Given the description of an element on the screen output the (x, y) to click on. 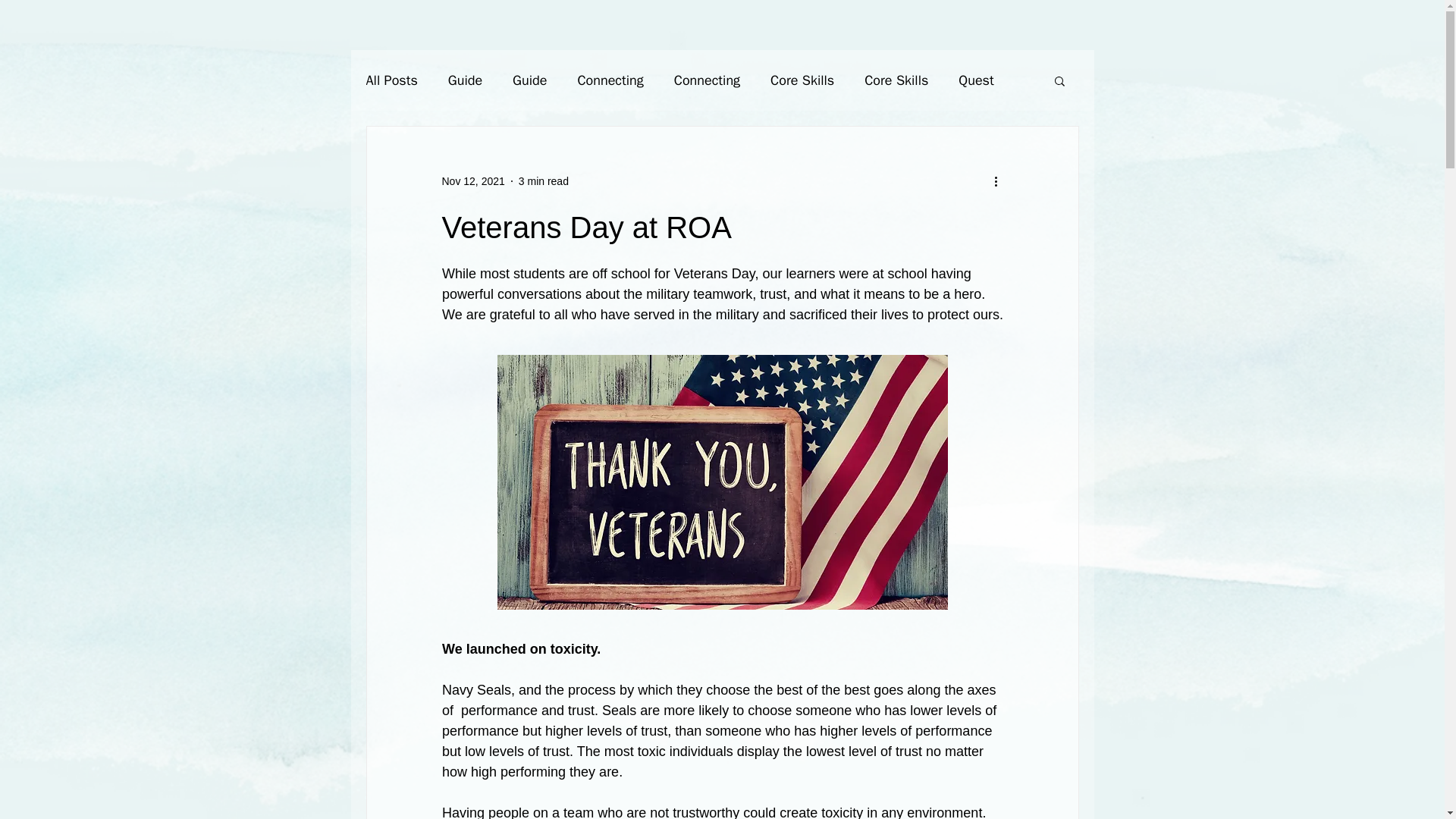
All Posts (390, 80)
Quest (975, 80)
Guide (464, 80)
Home (536, 24)
Core Skills (802, 80)
Core Skills (896, 80)
Connecting (609, 80)
Guide (529, 80)
3 min read (543, 180)
MORE (907, 24)
Nov 12, 2021 (472, 180)
Connecting (706, 80)
